Given the description of an element on the screen output the (x, y) to click on. 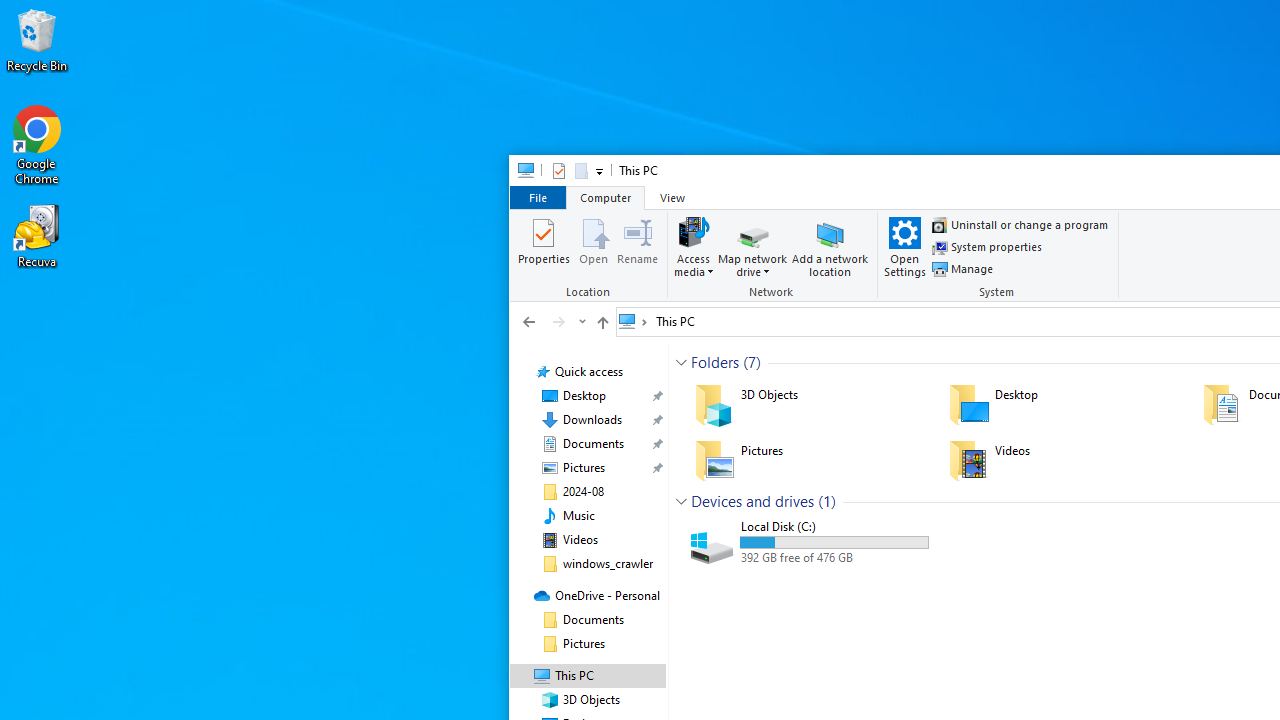
Open Settings (905, 246)
Desktop (pinned) (584, 395)
Pictures (pinned) (583, 467)
Music (578, 515)
Available space (834, 557)
File tab (537, 196)
Forward (Alt + Right Arrow) (558, 321)
Pictures (808, 460)
Videos (580, 539)
This PC (674, 321)
Local Disk (C:) (808, 542)
Collapse Group (681, 501)
Computer (605, 196)
Desktop (1062, 403)
Up to "Desktop" (Alt + Up Arrow) (602, 322)
